Given the description of an element on the screen output the (x, y) to click on. 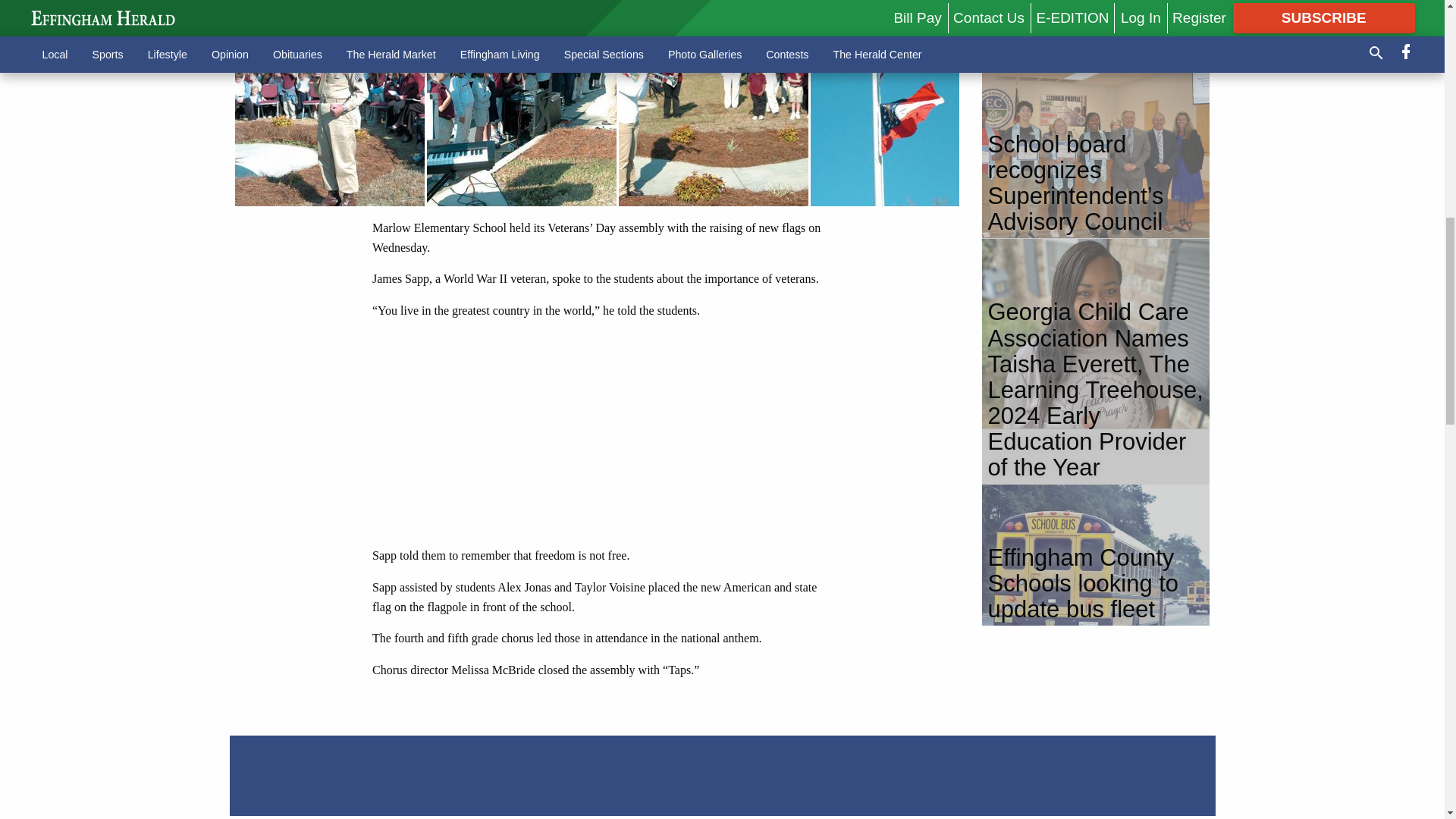
3rd party ad content (602, 432)
